Given the description of an element on the screen output the (x, y) to click on. 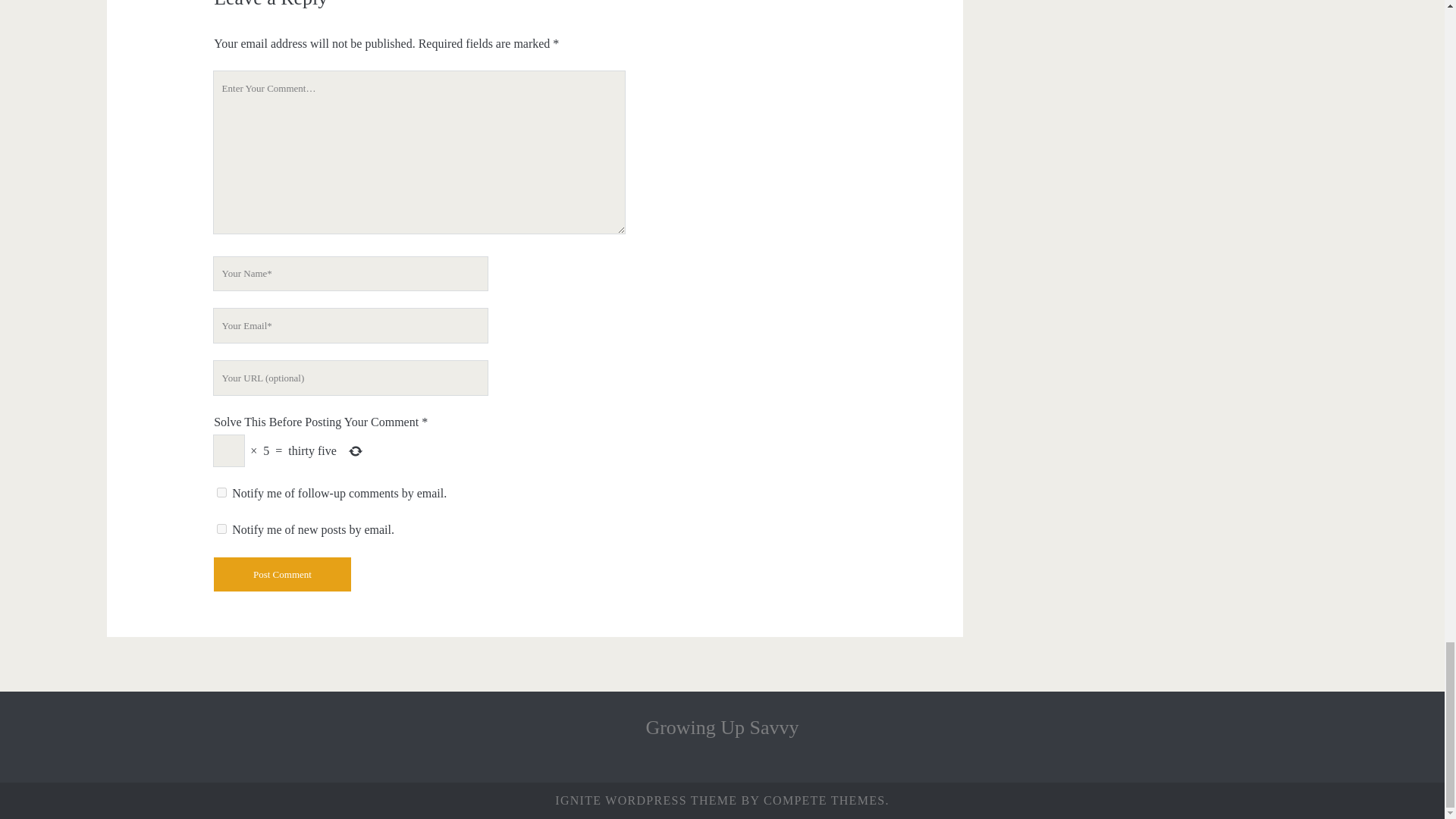
subscribe (221, 528)
subscribe (221, 492)
Post Comment (282, 574)
